Given the description of an element on the screen output the (x, y) to click on. 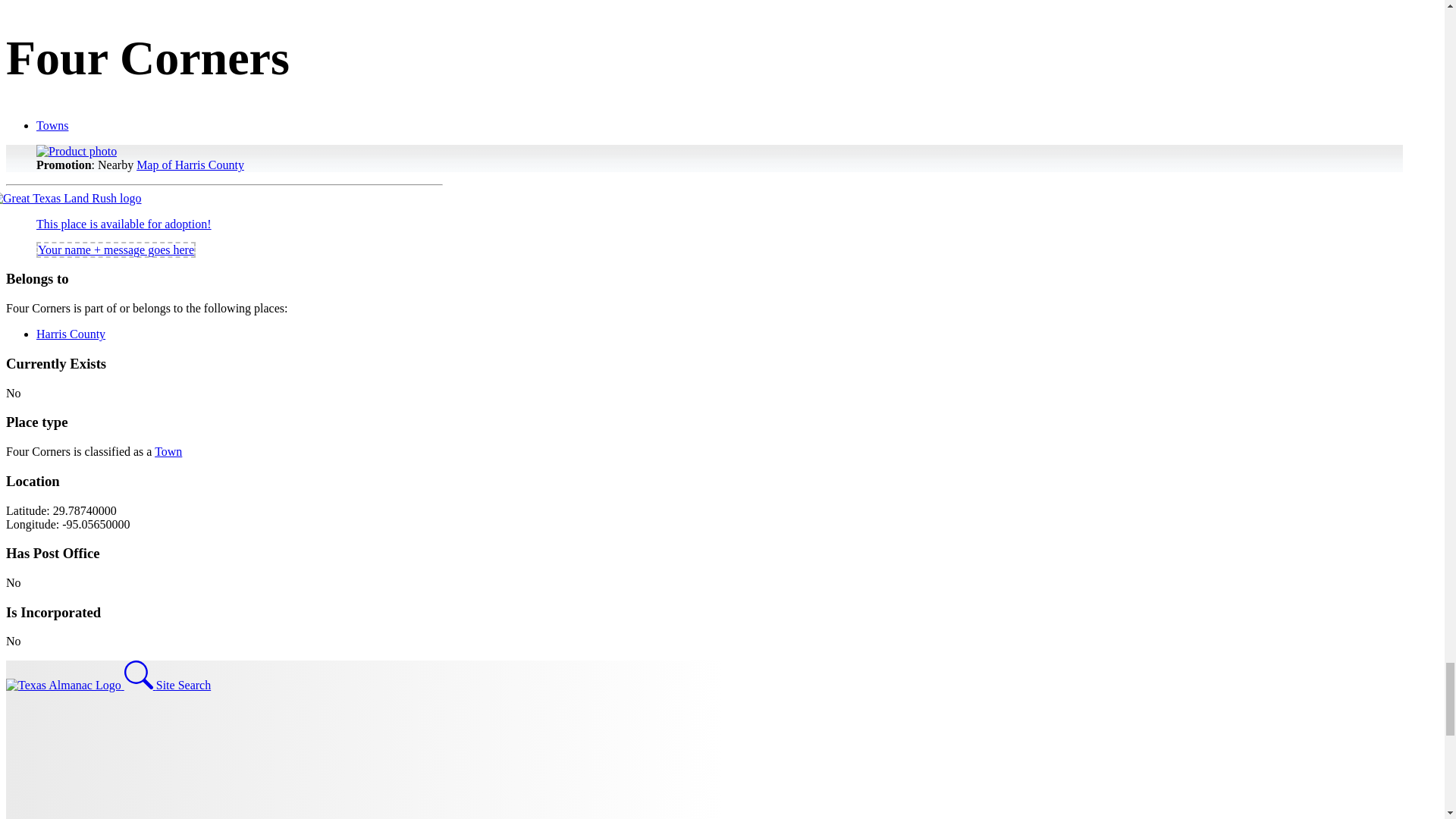
Harris County (70, 333)
This place is available for adoption! (123, 223)
Site Search (167, 684)
Towns (52, 124)
Town (168, 451)
Map of Harris County (190, 164)
